Given the description of an element on the screen output the (x, y) to click on. 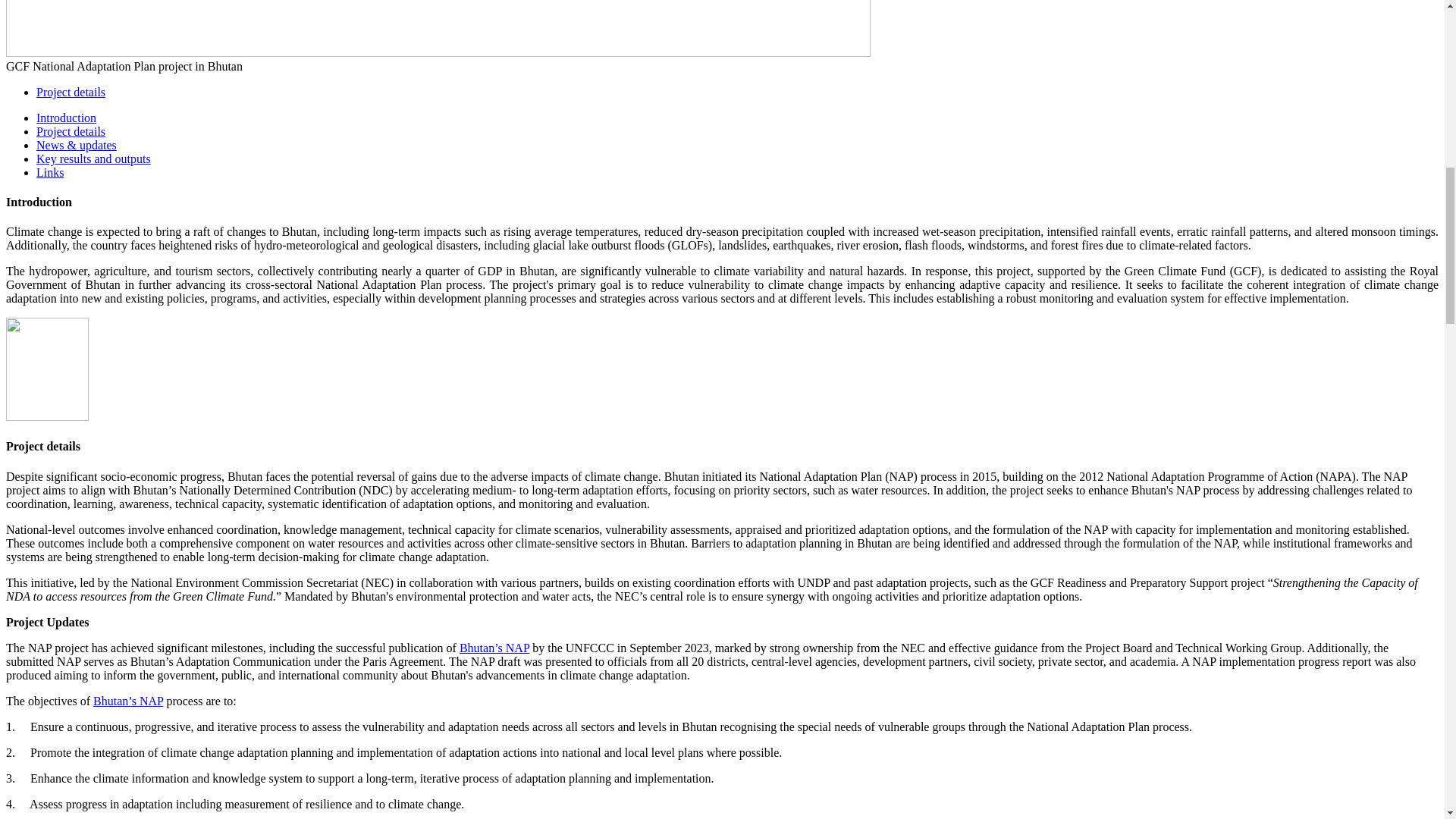
Project details (70, 131)
Links (50, 172)
Key results and outputs (93, 158)
Introduction (66, 117)
